Given the description of an element on the screen output the (x, y) to click on. 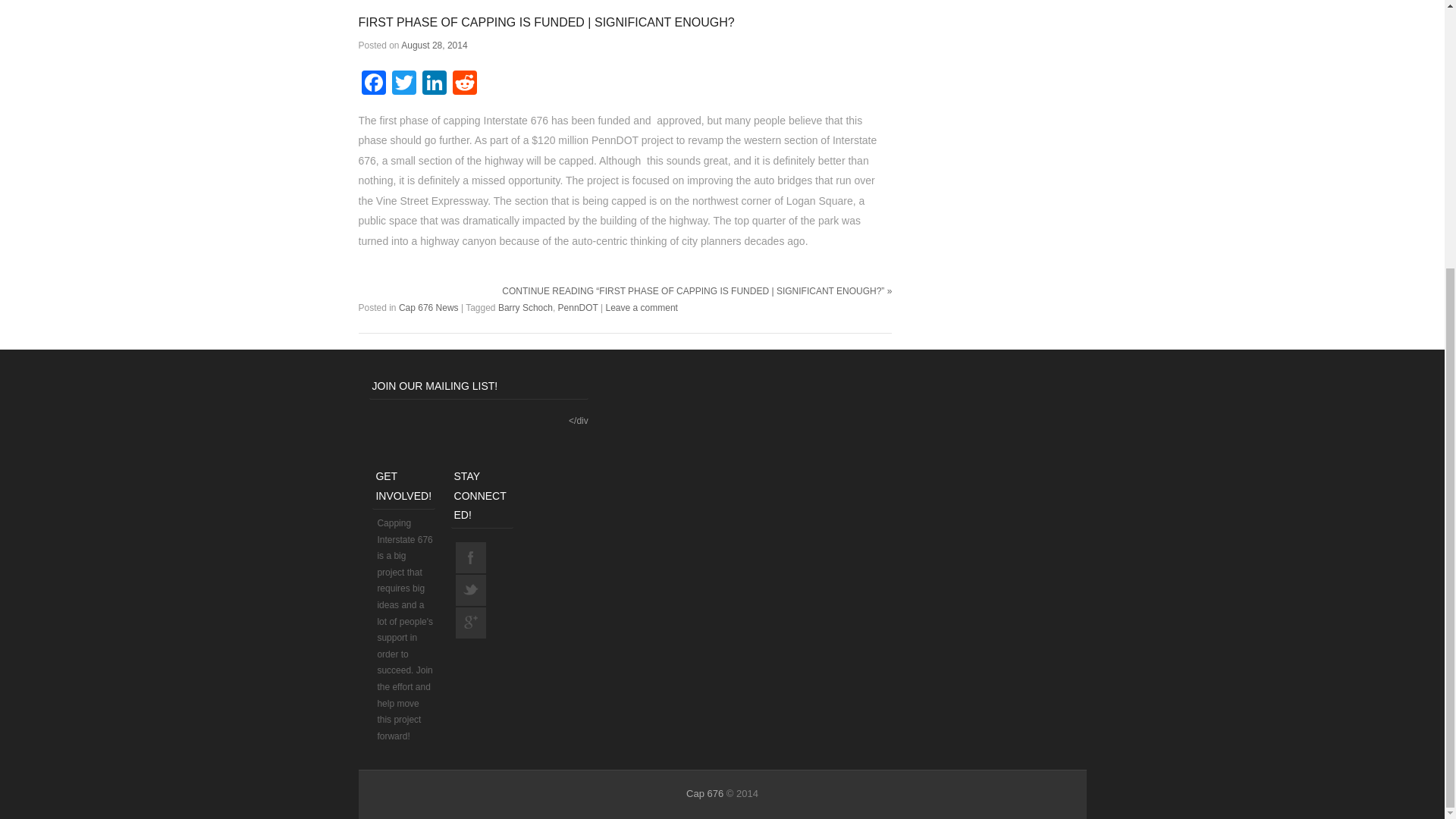
LinkedIn (433, 83)
Twitter (403, 83)
12:09 am (434, 45)
googleplus (470, 622)
Facebook (373, 83)
Cap 676 News (428, 307)
August 28, 2014 (434, 45)
Reddit (463, 83)
Leave a comment (641, 307)
LinkedIn (433, 83)
